Given the description of an element on the screen output the (x, y) to click on. 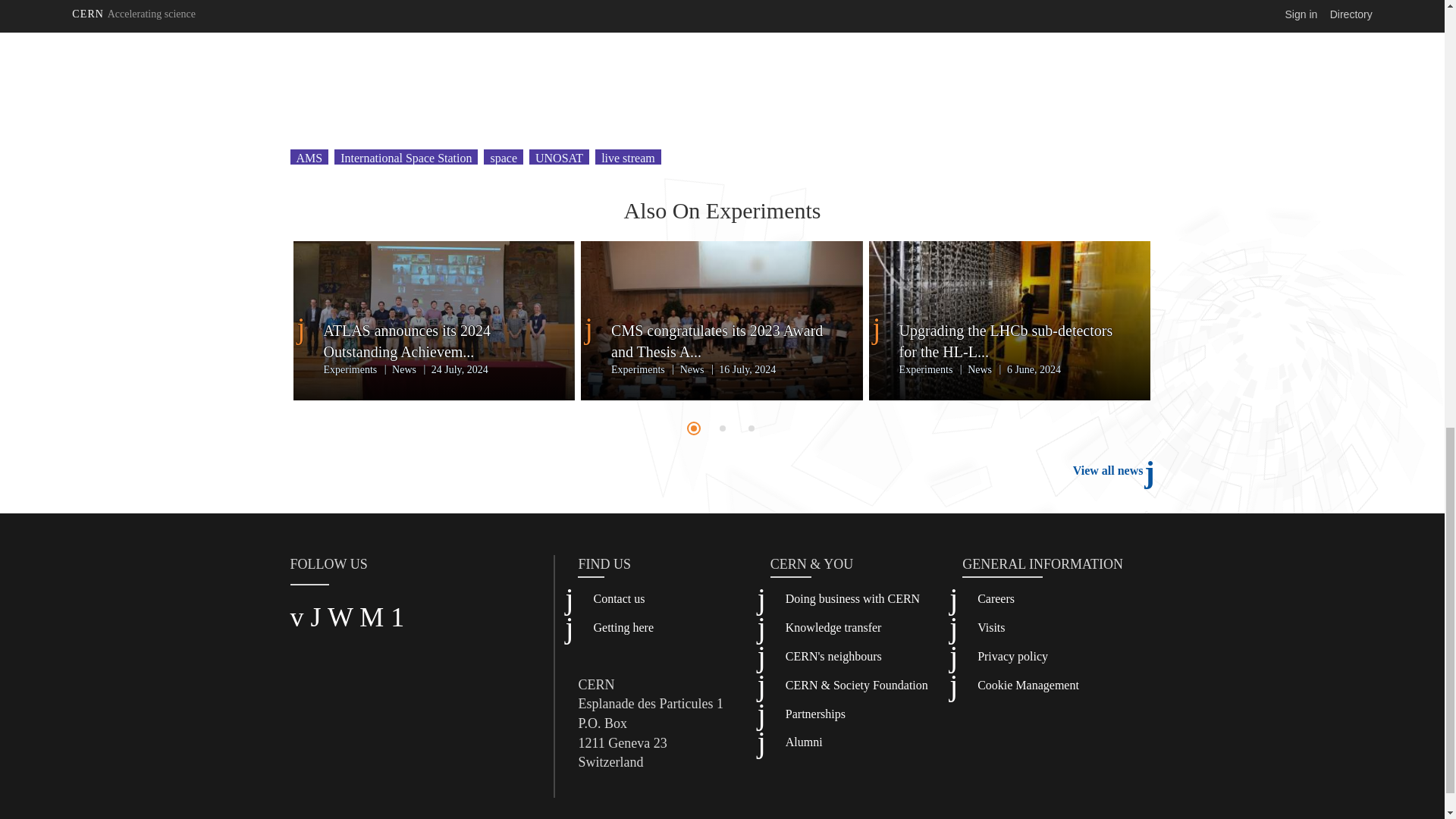
CMS congratulates its 2023 Award and Thesis Award winners (721, 341)
Upgrading the LHCb sub-detectors for the HL-LHC (1010, 341)
